Given the description of an element on the screen output the (x, y) to click on. 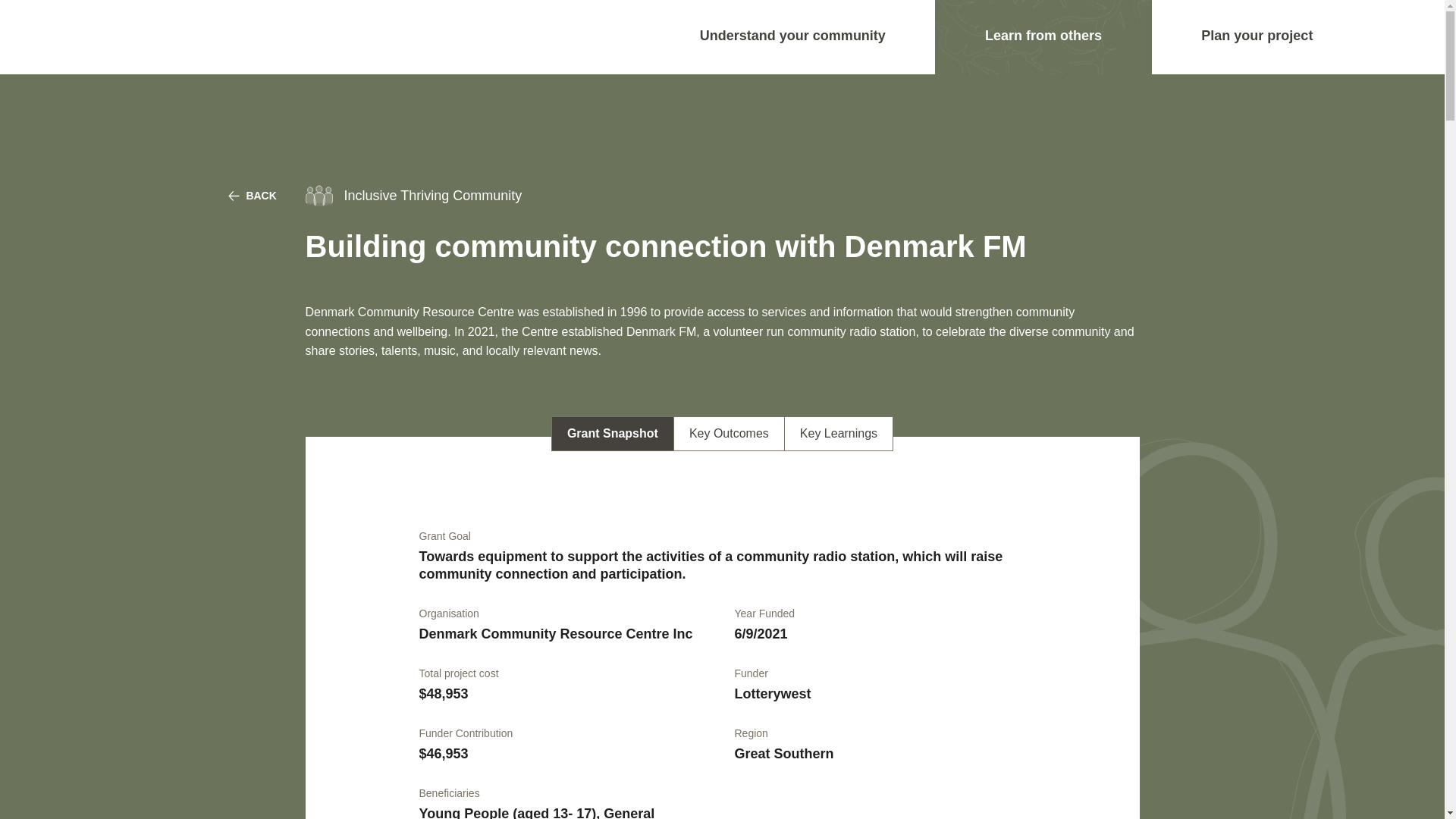
Plan your project (1257, 36)
Understand your community (792, 36)
Grant Snapshot (612, 433)
Learn from others (1043, 36)
Key Outcomes (729, 433)
Key Learnings (838, 433)
BACK (251, 195)
